Given the description of an element on the screen output the (x, y) to click on. 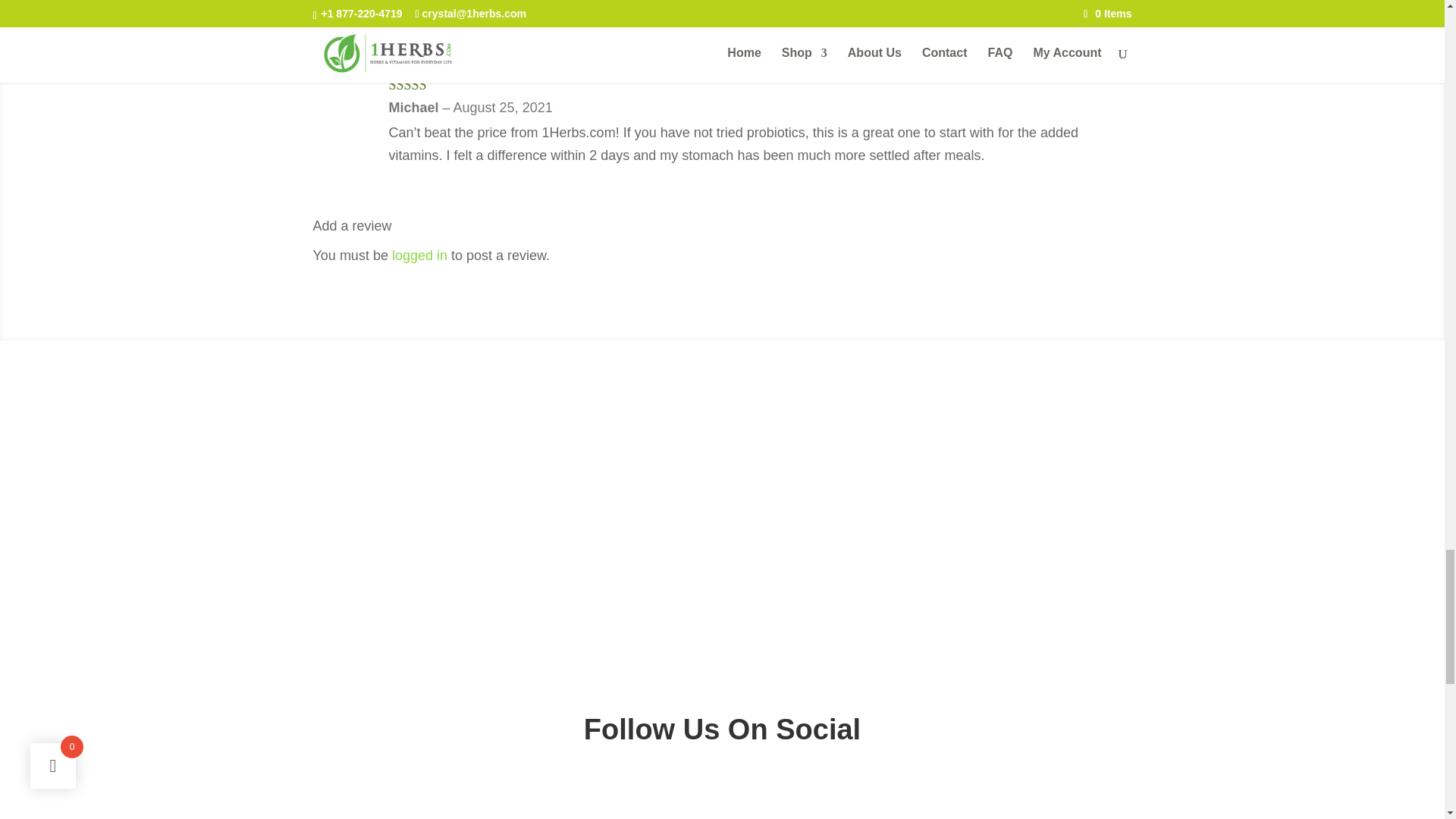
Follow on Facebook (691, 791)
logged in (418, 255)
Follow on Instagram (721, 791)
Follow on X (751, 791)
